Given the description of an element on the screen output the (x, y) to click on. 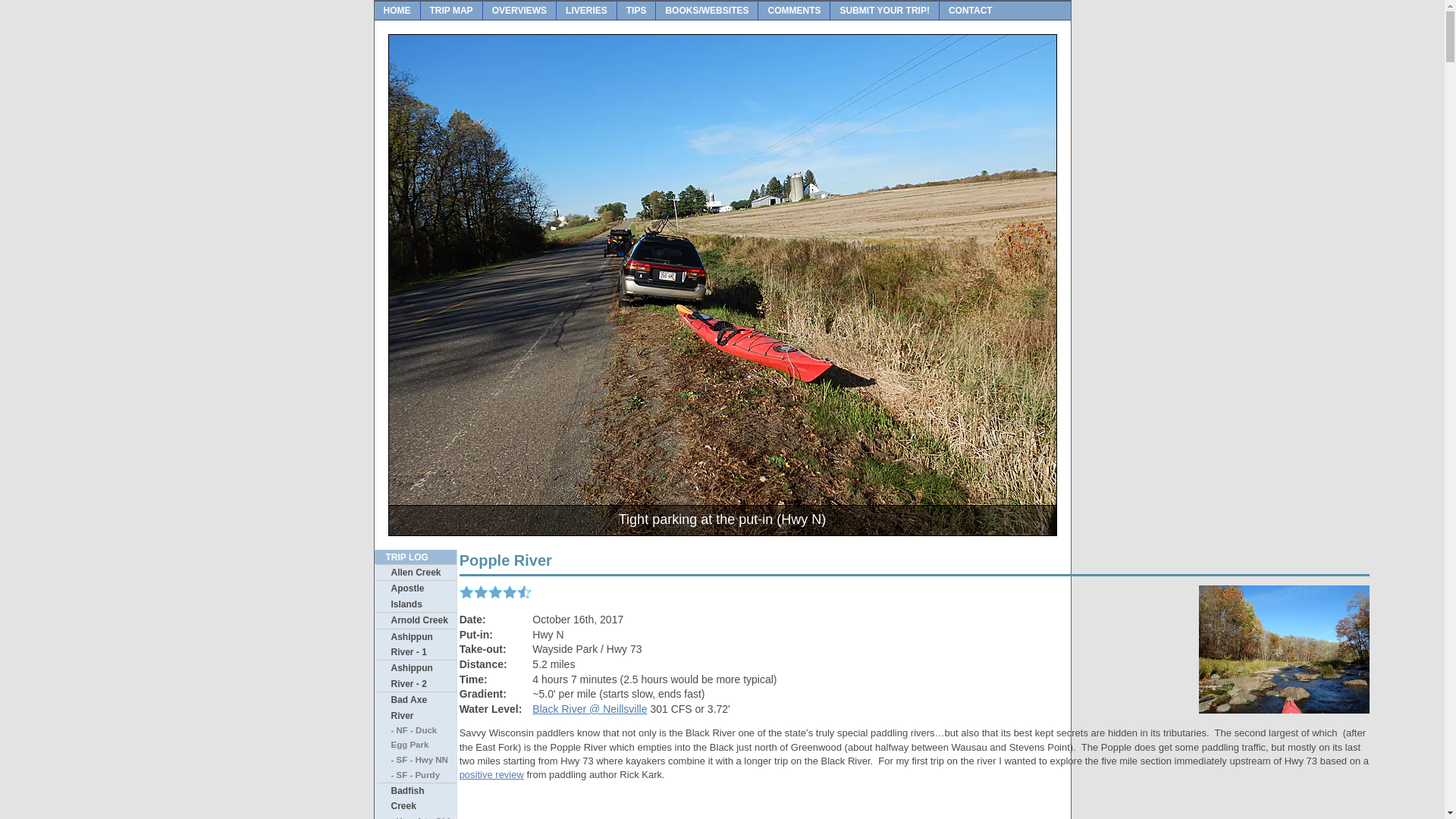
Advertisement (915, 805)
TIPS (636, 10)
LIVERIES (586, 10)
SUBMIT YOUR TRIP! (884, 10)
HOME (397, 10)
CONTACT (970, 10)
OVERVIEWS (519, 10)
COMMENTS (793, 10)
TRIP MAP (450, 10)
